Given the description of an element on the screen output the (x, y) to click on. 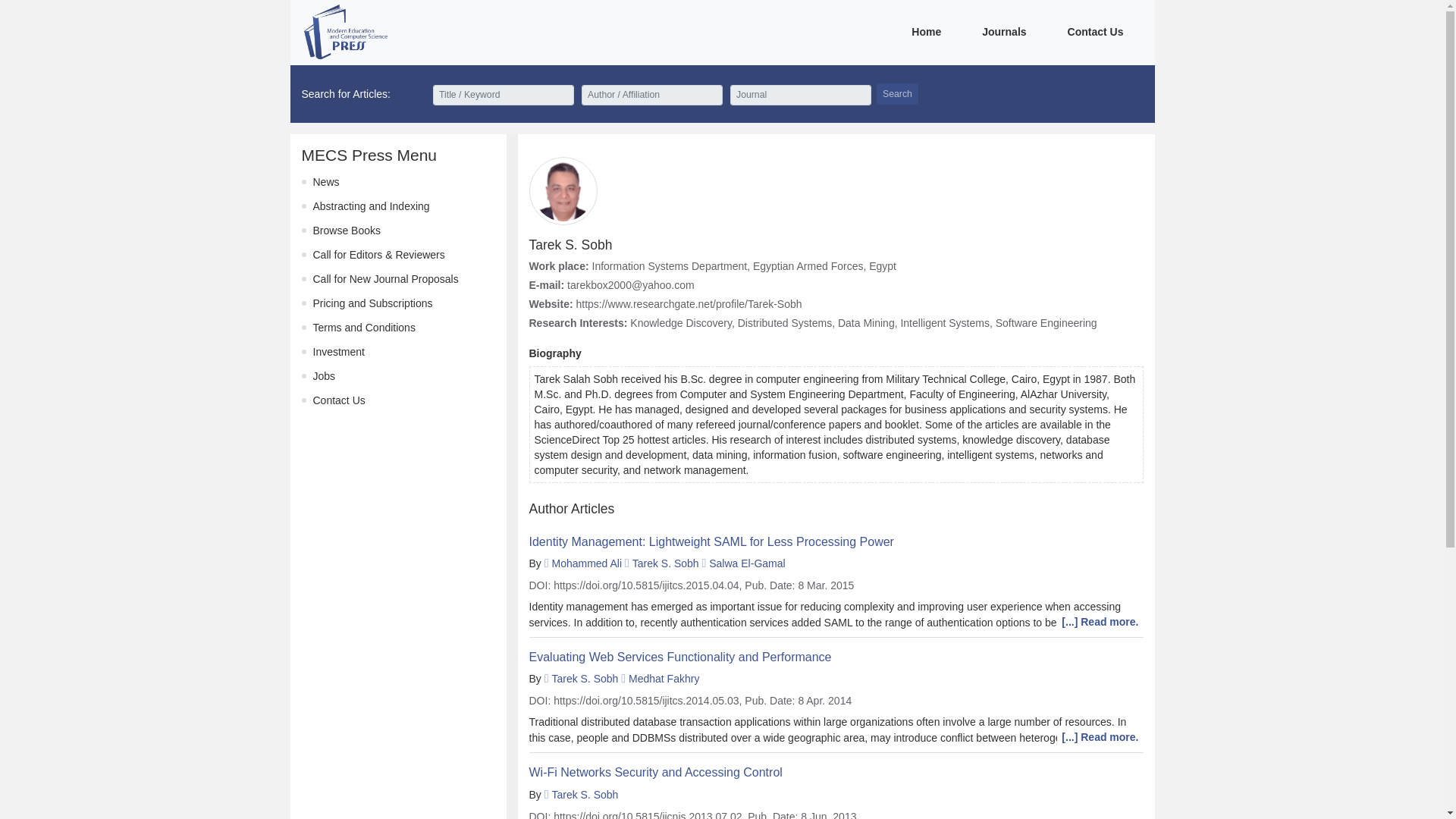
Tarek S. Sobh (664, 563)
Salwa El-Gamal (746, 563)
Medhat Fakhry (663, 678)
Jobs (323, 376)
News (326, 182)
Abstracting and Indexing (371, 205)
Terms and Conditions (363, 327)
Search (897, 93)
Call for New Journal Proposals (385, 278)
